Given the description of an element on the screen output the (x, y) to click on. 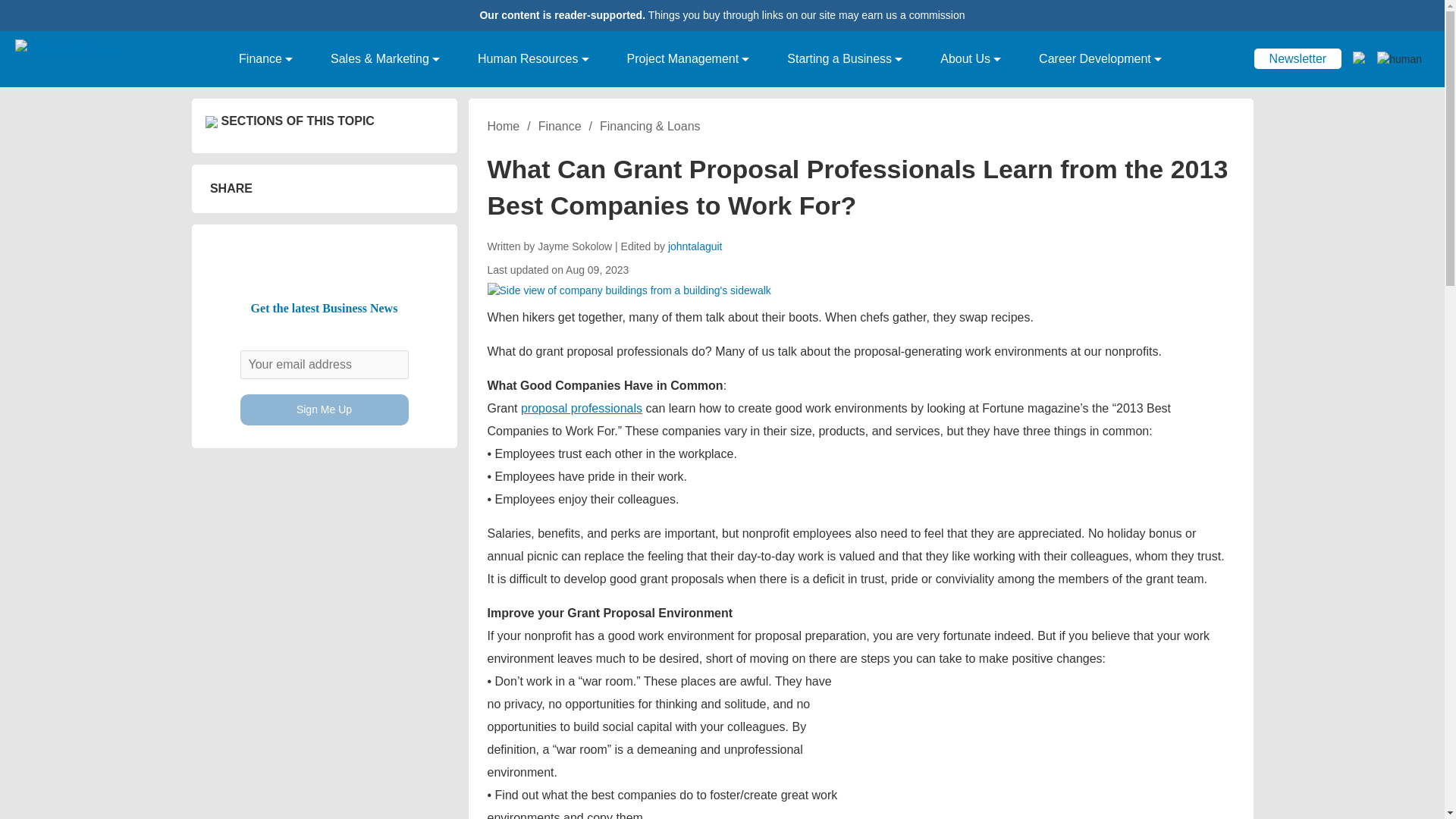
Human Resources (533, 58)
Starting a Business (844, 58)
Finance (265, 58)
Project Management (688, 58)
